Given the description of an element on the screen output the (x, y) to click on. 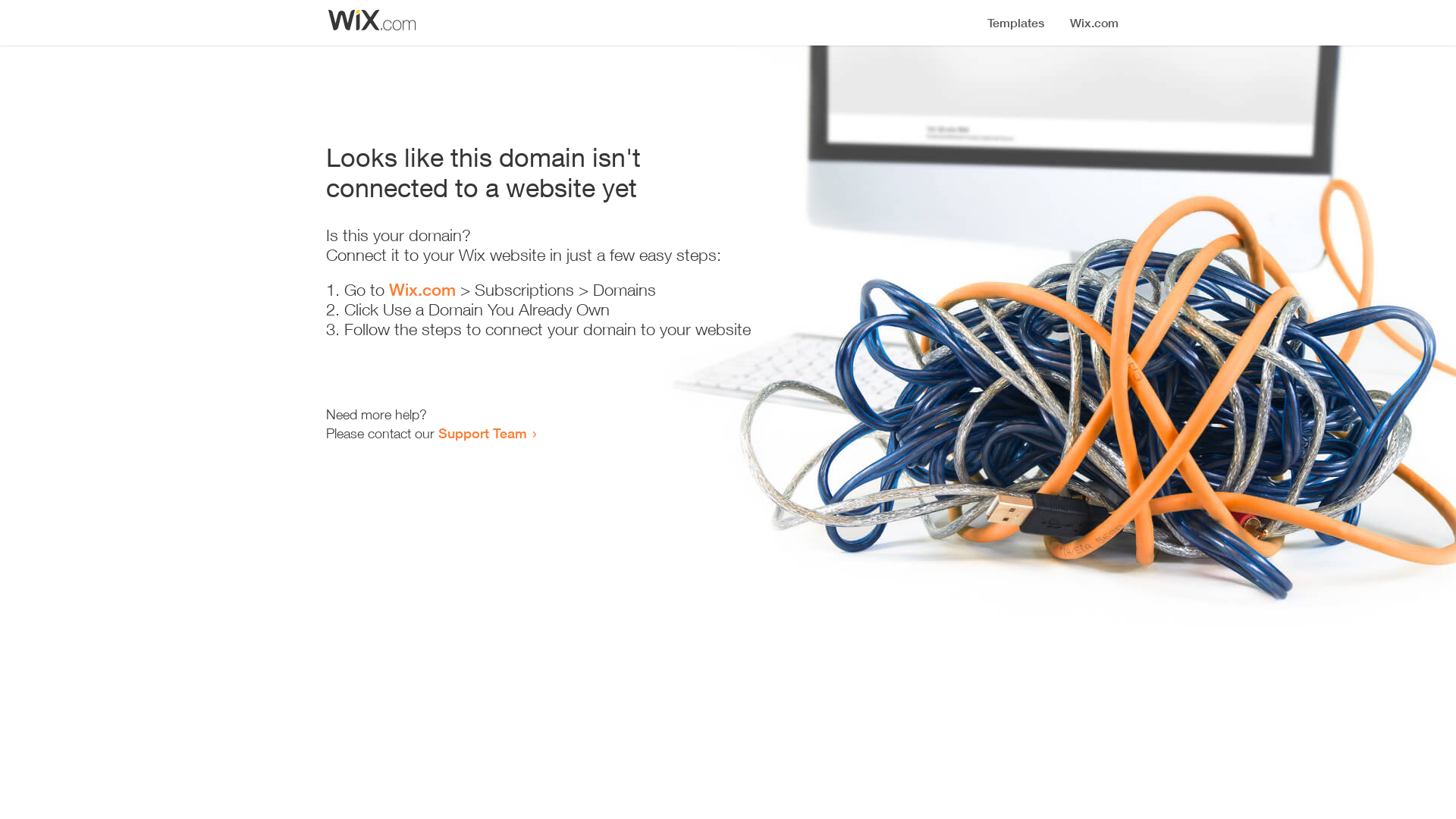
Wix.com Element type: text (422, 289)
Support Team Element type: text (482, 432)
